Given the description of an element on the screen output the (x, y) to click on. 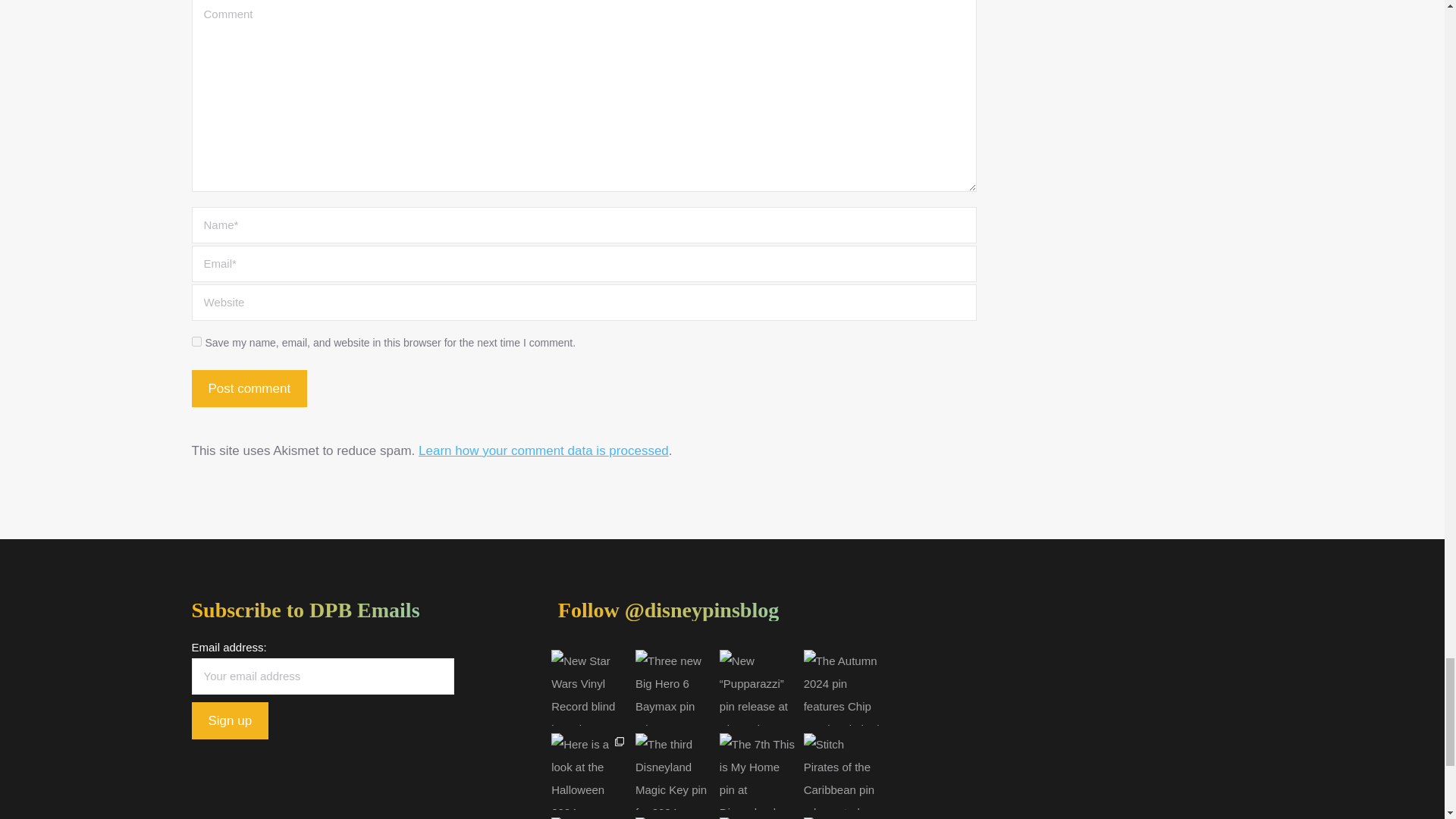
Sign up (228, 720)
yes (195, 341)
